Given the description of an element on the screen output the (x, y) to click on. 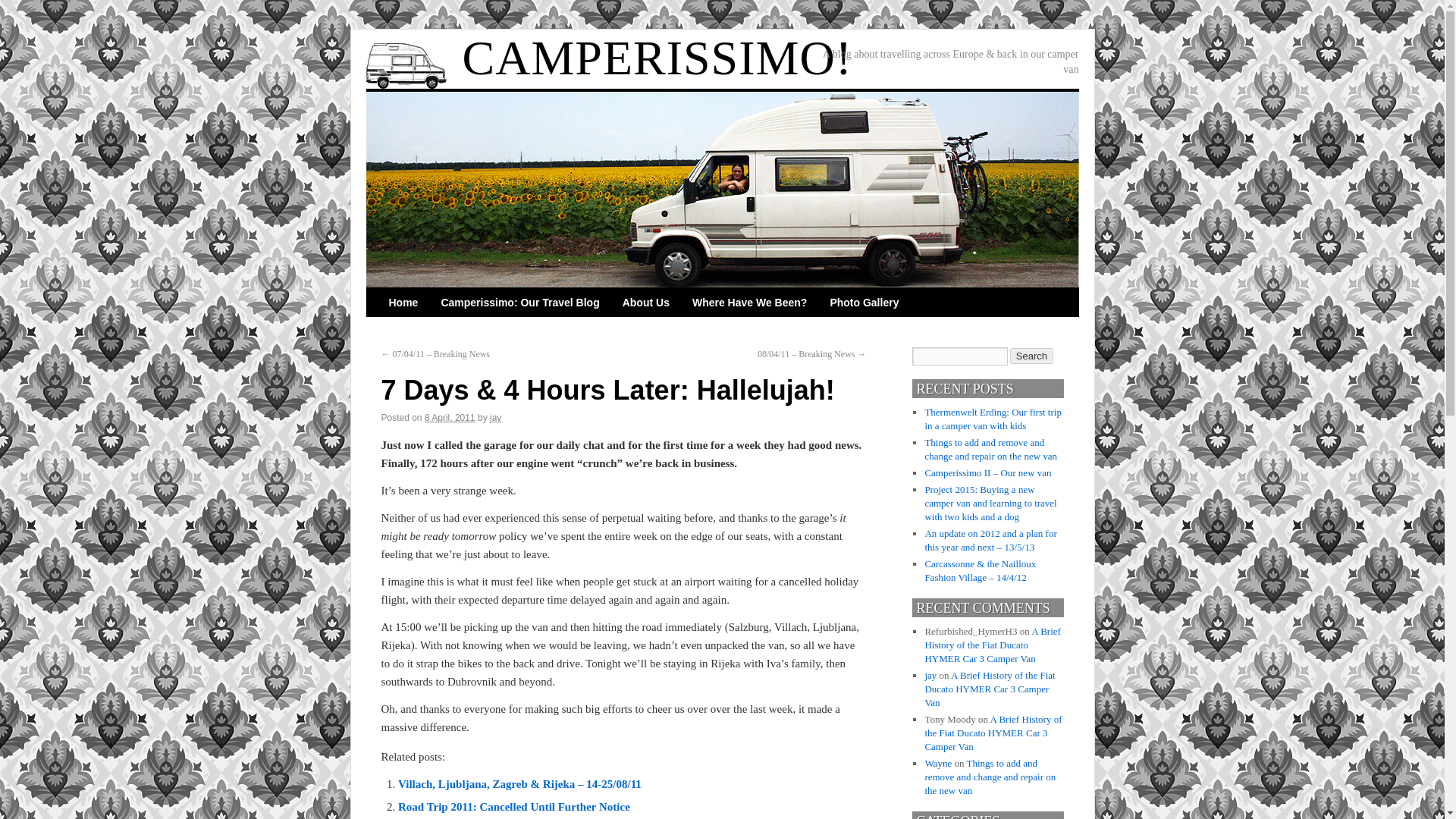
Camperissimo! (657, 58)
jay (494, 417)
8 April, 2011 (450, 417)
View all posts by jay (494, 417)
Thermenwelt Erding: Our first trip in a camper van with kids (992, 418)
Road Trip 2011: Cancelled Until Further Notice (513, 806)
A Brief History of the Fiat Ducato HYMER Car 3 Camper Van (989, 688)
CAMPERISSIMO! (657, 58)
Search (1031, 355)
About Us (646, 302)
Home (403, 302)
13:16 (450, 417)
A Brief History of the Fiat Ducato HYMER Car 3 Camper Van (991, 644)
